Given the description of an element on the screen output the (x, y) to click on. 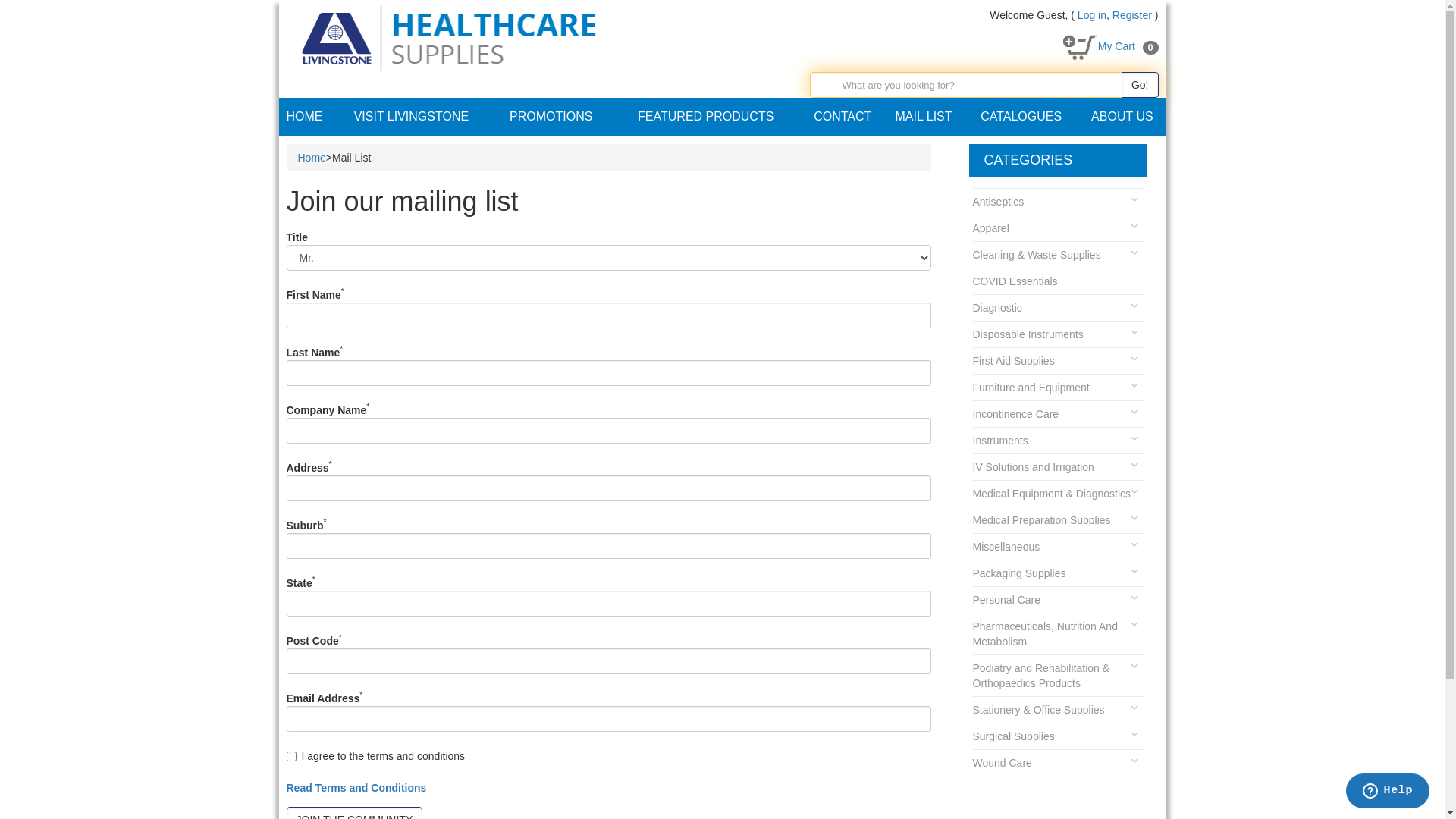
Furniture and Equipment Element type: text (1057, 386)
IV Solutions and Irrigation Element type: text (1057, 466)
Wound Care Element type: text (1057, 762)
Pharmaceuticals, Nutrition And Metabolism Element type: text (1057, 633)
Medical Preparation Supplies Element type: text (1057, 519)
Packaging Supplies Element type: text (1057, 572)
Diagnostic Element type: text (1057, 307)
Log in Element type: text (1091, 15)
Register Element type: text (1131, 15)
Disposable Instruments Element type: text (1057, 333)
Stationery & Office Supplies Element type: text (1057, 709)
Incontinence Care Element type: text (1057, 413)
Personal Care Element type: text (1057, 599)
Medical Equipment & Diagnostics Element type: text (1057, 493)
Apparel Element type: text (1057, 227)
Read Terms and Conditions Element type: text (356, 787)
First Aid Supplies Element type: text (1057, 360)
My Cart Element type: text (1116, 46)
COVID Essentials Element type: text (1057, 280)
Miscellaneous Element type: text (1057, 546)
Surgical Supplies Element type: text (1057, 735)
Podiatry and Rehabilitation & Orthopaedics Products Element type: text (1057, 675)
Cleaning & Waste Supplies Element type: text (1057, 254)
Instruments Element type: text (1057, 439)
Go! Element type: text (1139, 84)
Antiseptics Element type: text (1057, 201)
Home Element type: text (311, 157)
Opens a widget where you can chat to one of our agents Element type: hover (1387, 792)
